Given the description of an element on the screen output the (x, y) to click on. 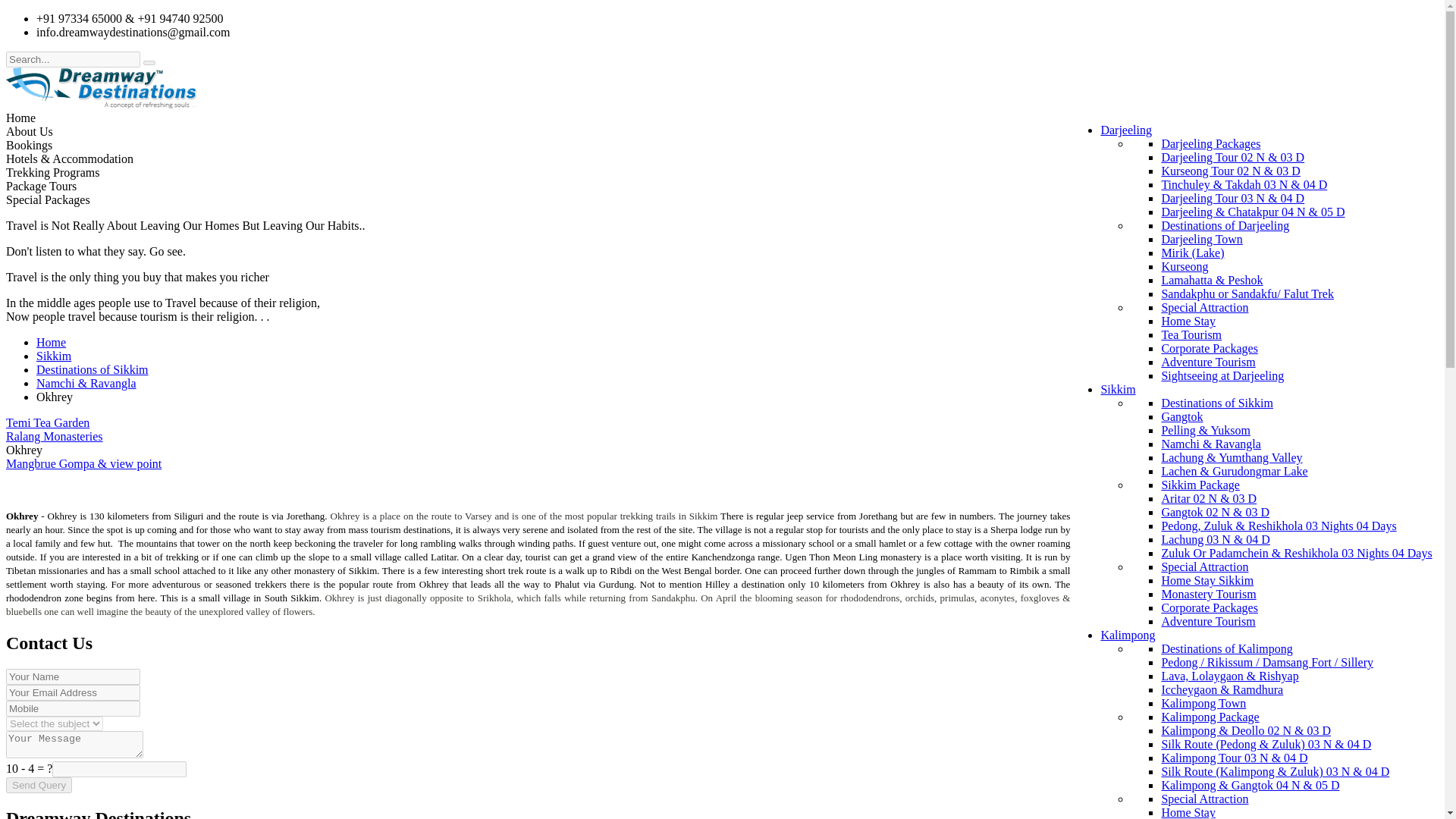
Special Attraction (1203, 566)
Adventure Tourism (1207, 361)
Homestay at Darjeeling, Eco-homestay at Darjeeling, (1187, 320)
Send Query (38, 785)
Tea Tourism (1190, 334)
Sightseeing at Darjeeling (1222, 375)
Monastery Tourism (1207, 594)
Destinations of Sikkim (1216, 402)
Special Attraction in Darjeeling (1203, 307)
Darjeeling Packages (1210, 143)
Special Attraction (1203, 307)
Search (148, 62)
Tea Tourism In Darjeeling (1190, 334)
Gangtok (1181, 416)
Home Stay Sikkim (1206, 580)
